Given the description of an element on the screen output the (x, y) to click on. 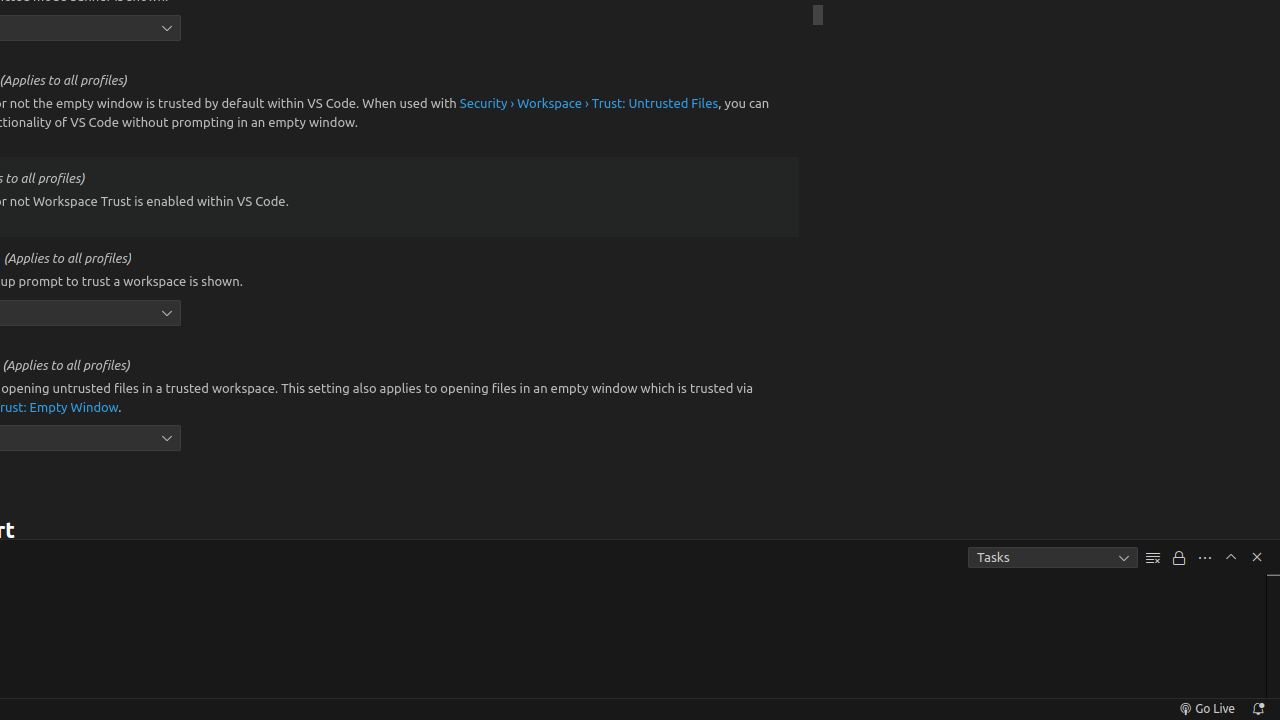
Maximize Panel Size Element type: check-box (1231, 557)
Security › Workspace › Trust: Untrusted Files Element type: link (589, 103)
Hide Panel Element type: push-button (1257, 557)
Turn Auto Scrolling Off Element type: check-box (1179, 557)
Clear Output Element type: push-button (1153, 557)
